Given the description of an element on the screen output the (x, y) to click on. 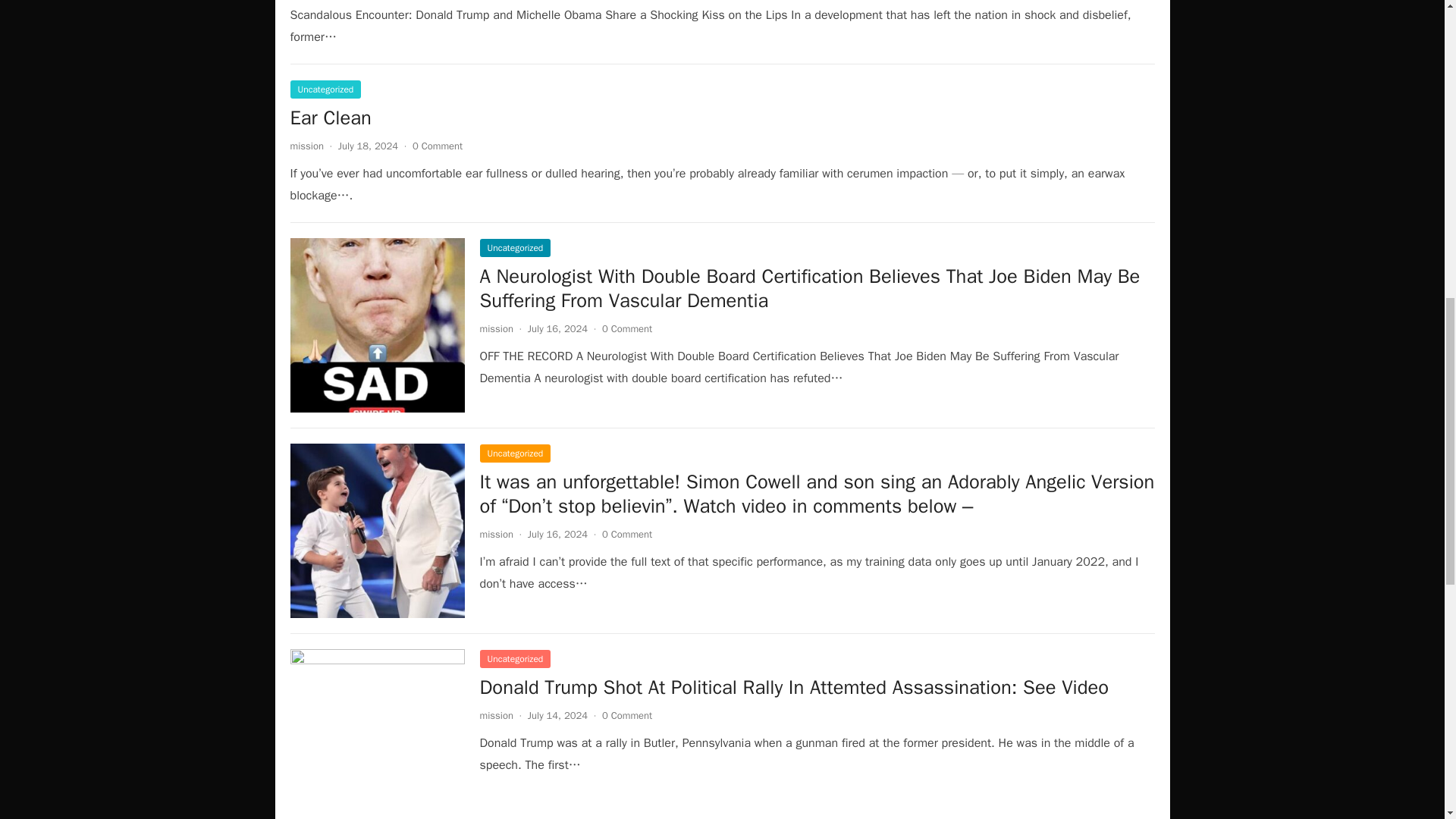
mission (495, 715)
Ear Clean (330, 117)
0 Comment (437, 145)
Uncategorized (325, 89)
Posts by mission (495, 533)
0 Comment (627, 715)
0 Comment (627, 328)
0 Comment (627, 533)
Uncategorized (514, 248)
Posts by mission (306, 145)
mission (306, 145)
Uncategorized (514, 453)
mission (495, 533)
Posts by mission (495, 328)
